Given the description of an element on the screen output the (x, y) to click on. 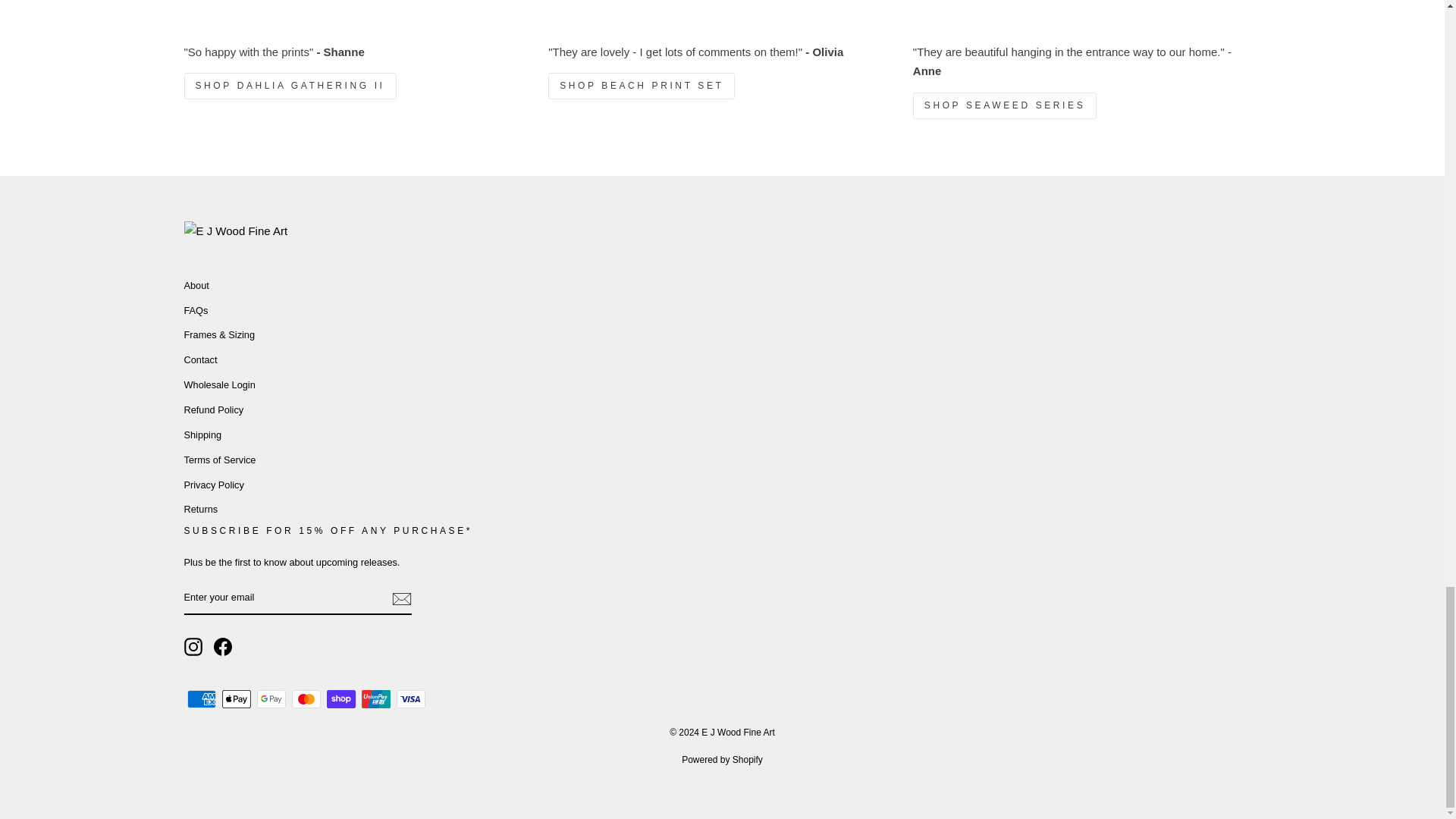
Union Pay (375, 699)
E J Wood Fine Art on Instagram (192, 647)
Apple Pay (235, 699)
E J Wood Fine Art on Facebook (222, 647)
Google Pay (270, 699)
American Express (200, 699)
Mastercard (305, 699)
Shop Pay (340, 699)
